Given the description of an element on the screen output the (x, y) to click on. 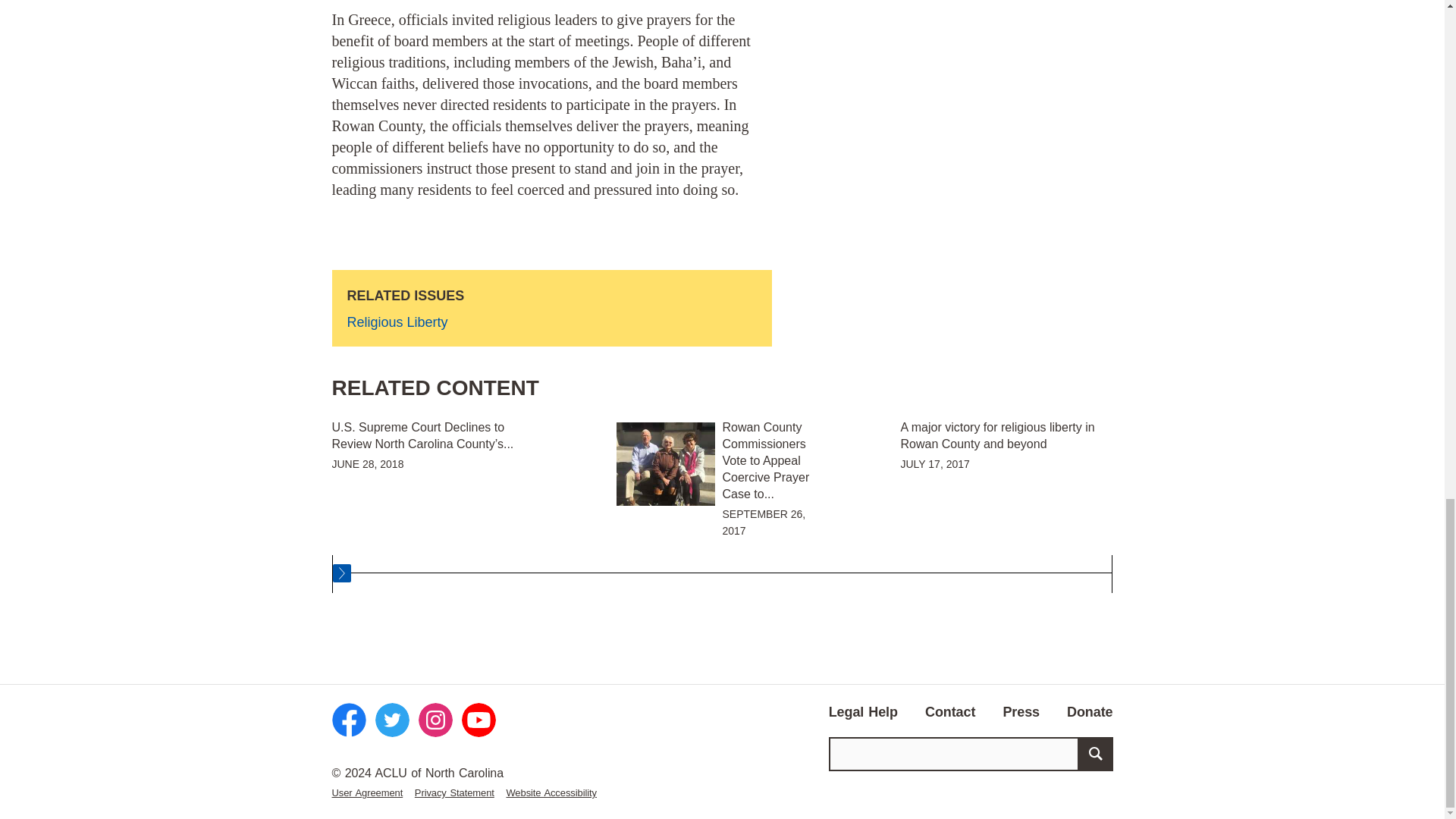
Search (1095, 754)
